Given the description of an element on the screen output the (x, y) to click on. 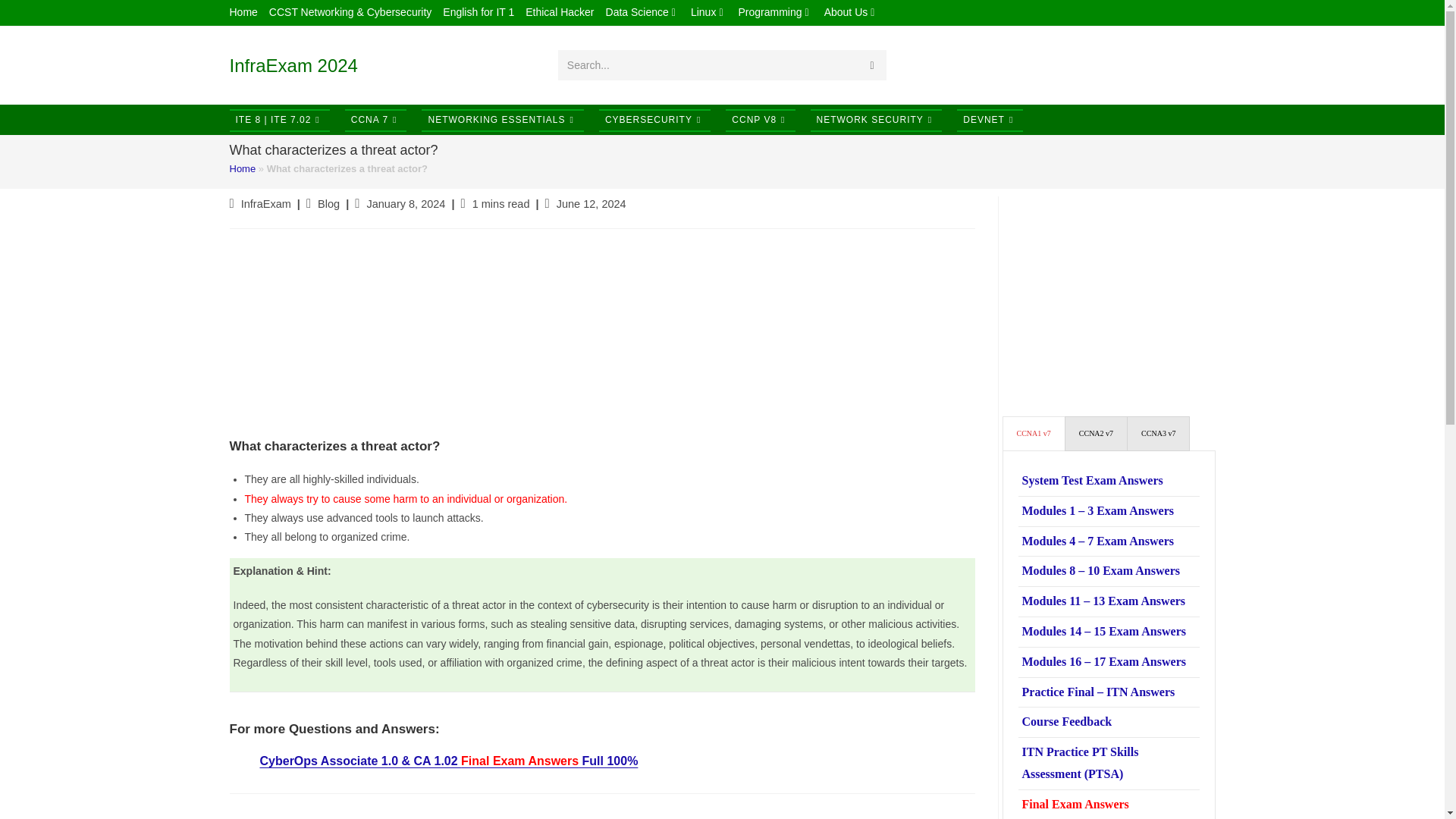
Data Science (642, 12)
Ethical Hacker (559, 12)
About Us (851, 12)
CCNA 7 (375, 119)
Posts by InfraExam (266, 203)
English for IT 1 (477, 12)
Programming (775, 12)
NETWORKING ESSENTIALS (502, 119)
Submit search (871, 64)
Home (242, 12)
Linux (708, 12)
InfraExam 2024 (292, 65)
